Given the description of an element on the screen output the (x, y) to click on. 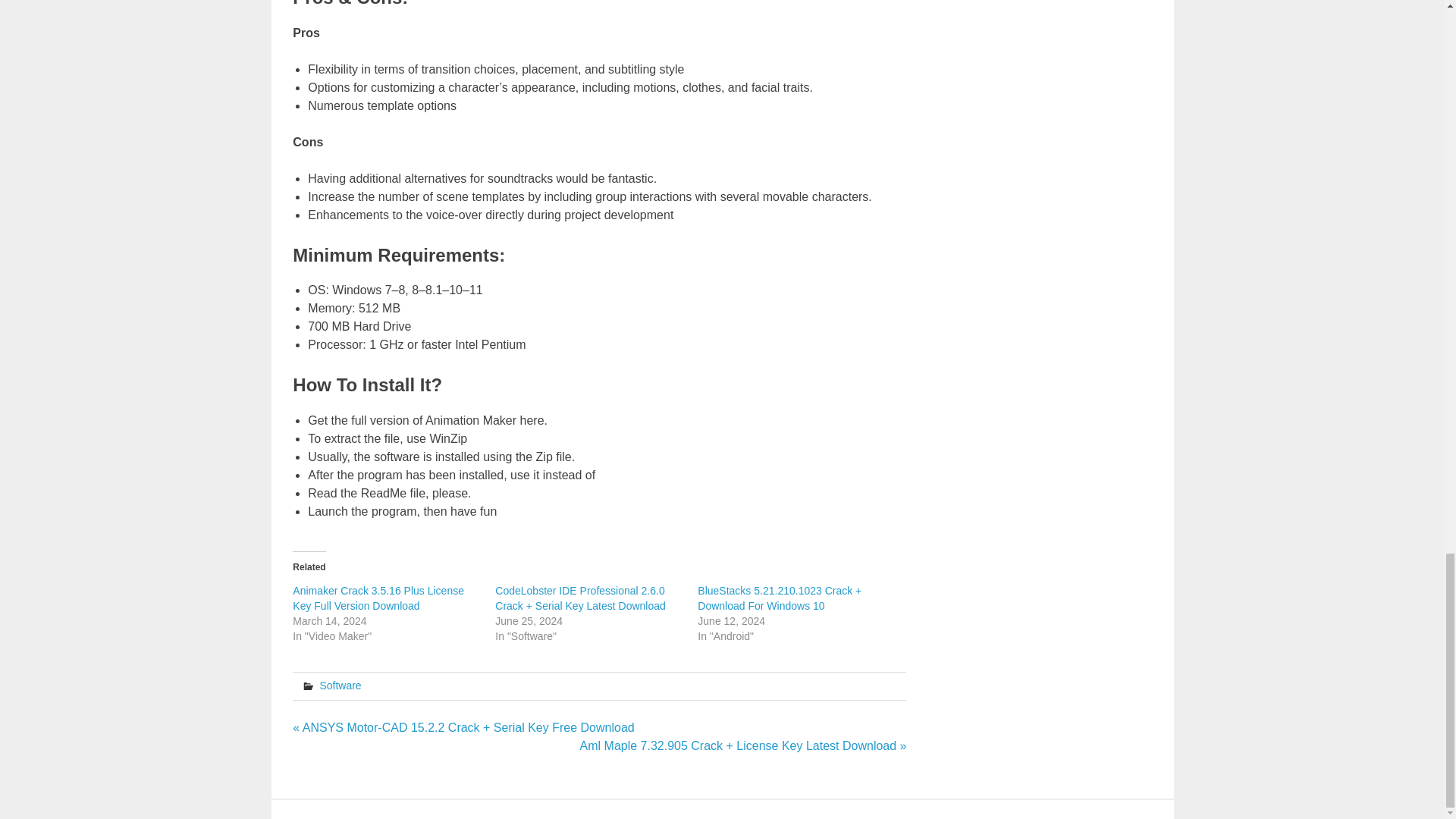
Animaker Crack 3.5.16 Plus License Key Full Version Download (378, 597)
Software (339, 685)
Animaker Crack 3.5.16 Plus License Key Full Version Download (378, 597)
